Given the description of an element on the screen output the (x, y) to click on. 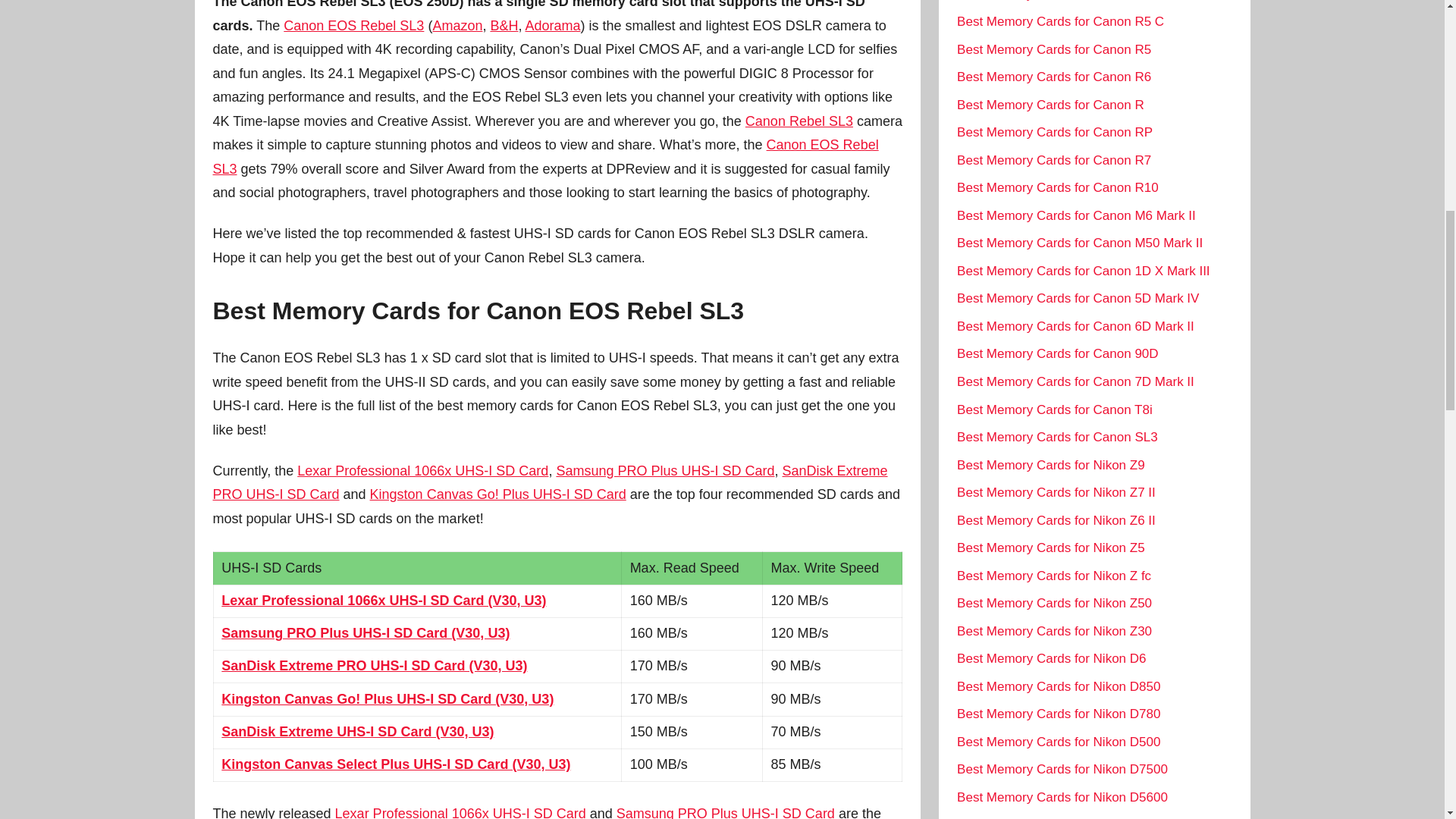
Canon EOS Rebel SL3 (544, 156)
Amazon (456, 25)
Canon EOS Rebel SL3 (353, 25)
Kingston Canvas Go! Plus UHS-I SD Card (497, 494)
Samsung PRO Plus UHS-I SD Card (724, 812)
Adorama (551, 25)
Canon Rebel SL3 (799, 120)
SanDisk Extreme PRO UHS-I SD Card (549, 482)
Lexar Professional 1066x UHS-I SD Card (422, 470)
Samsung PRO Plus UHS-I SD Card (665, 470)
